Given the description of an element on the screen output the (x, y) to click on. 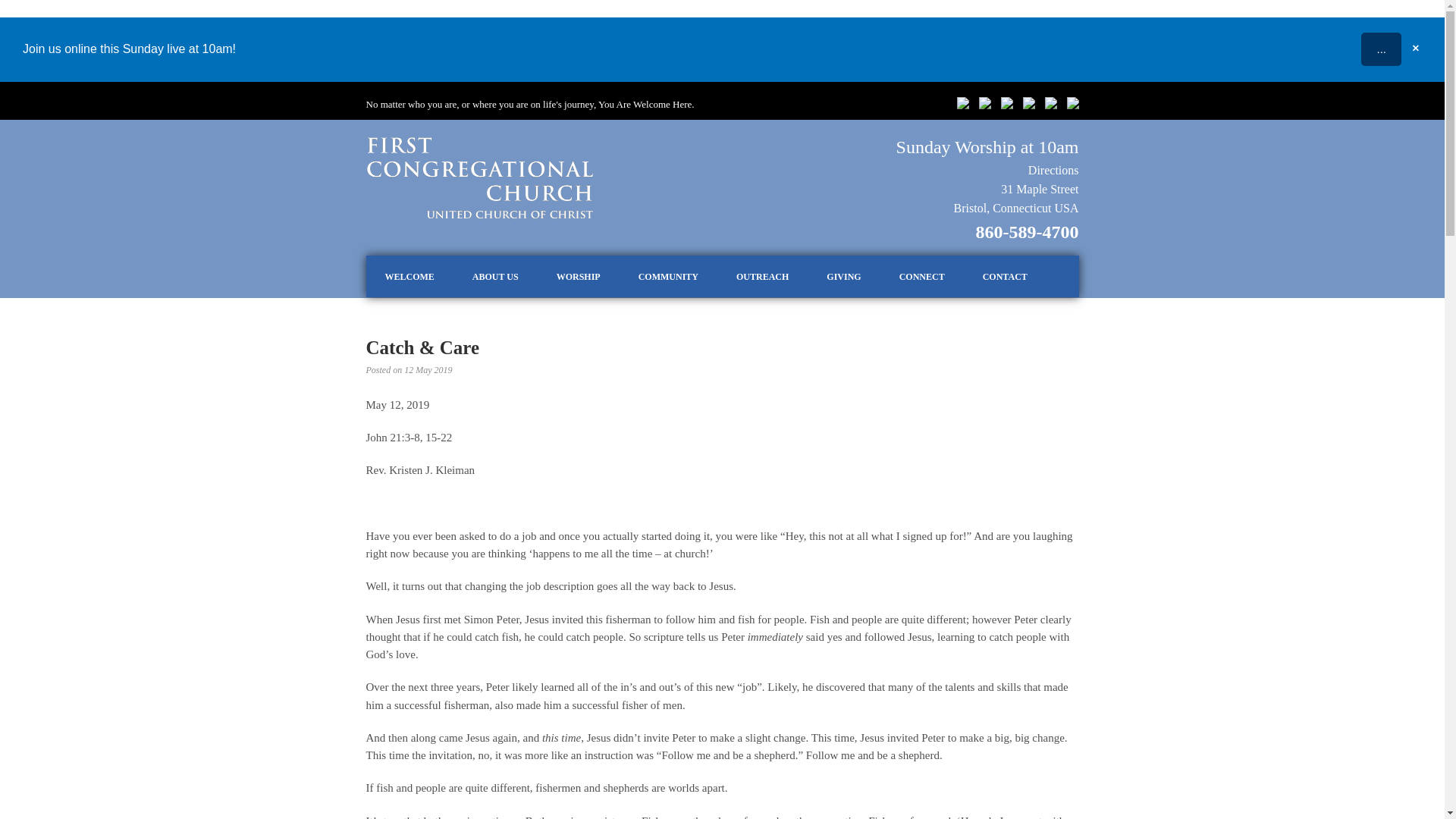
WORSHIP (578, 276)
ABOUT US (494, 276)
WELCOME (408, 276)
... (1380, 48)
OUTREACH (762, 276)
Directions (1052, 169)
COMMUNITY (668, 276)
